Given the description of an element on the screen output the (x, y) to click on. 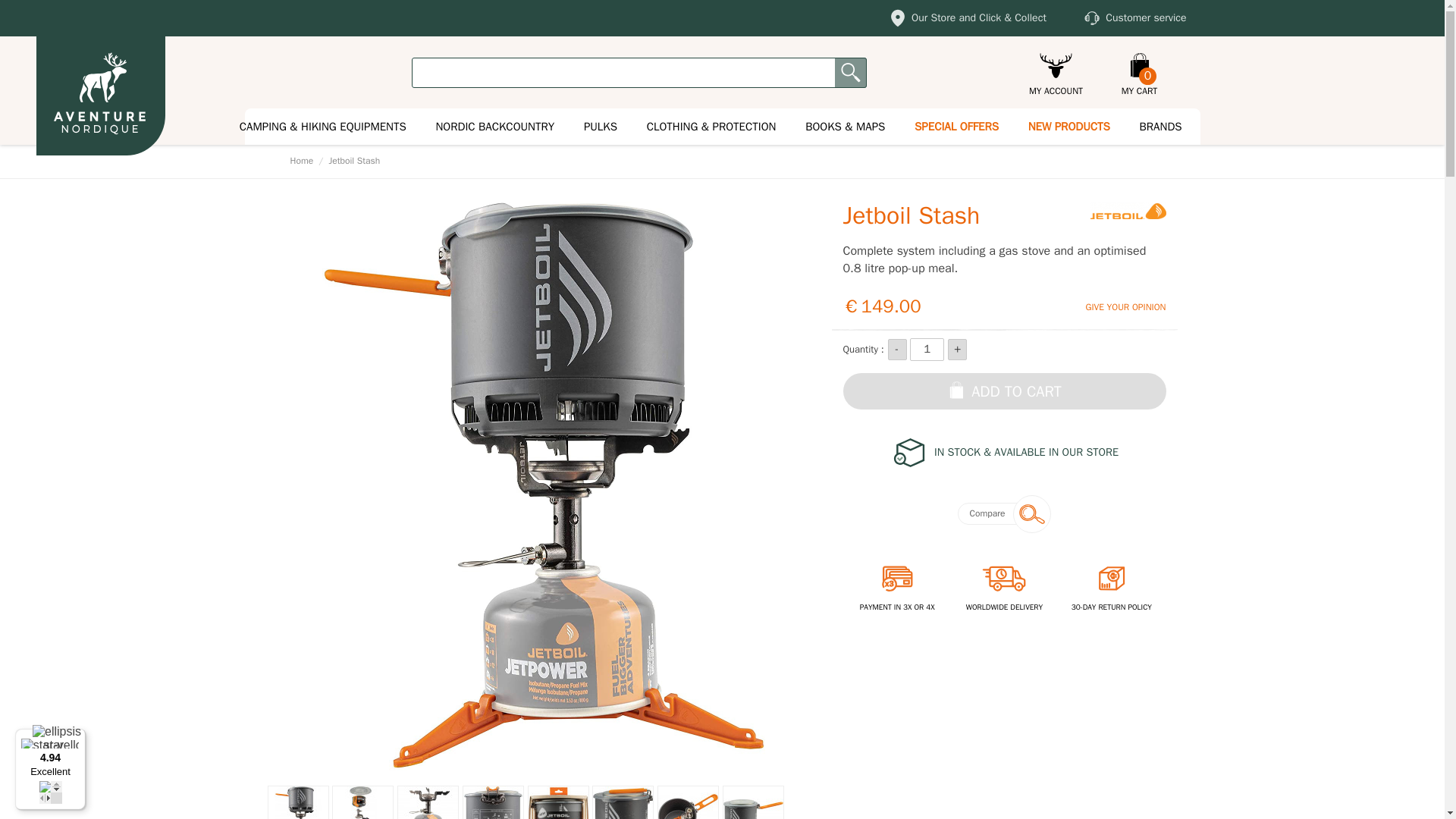
Aventure Nordique, the outdoor webstore (1138, 72)
My Cart (100, 77)
- (1138, 72)
Go (897, 349)
GO (850, 72)
Customer service (850, 72)
1 (1133, 17)
Search (926, 349)
MY ACCOUNT (622, 72)
